Given the description of an element on the screen output the (x, y) to click on. 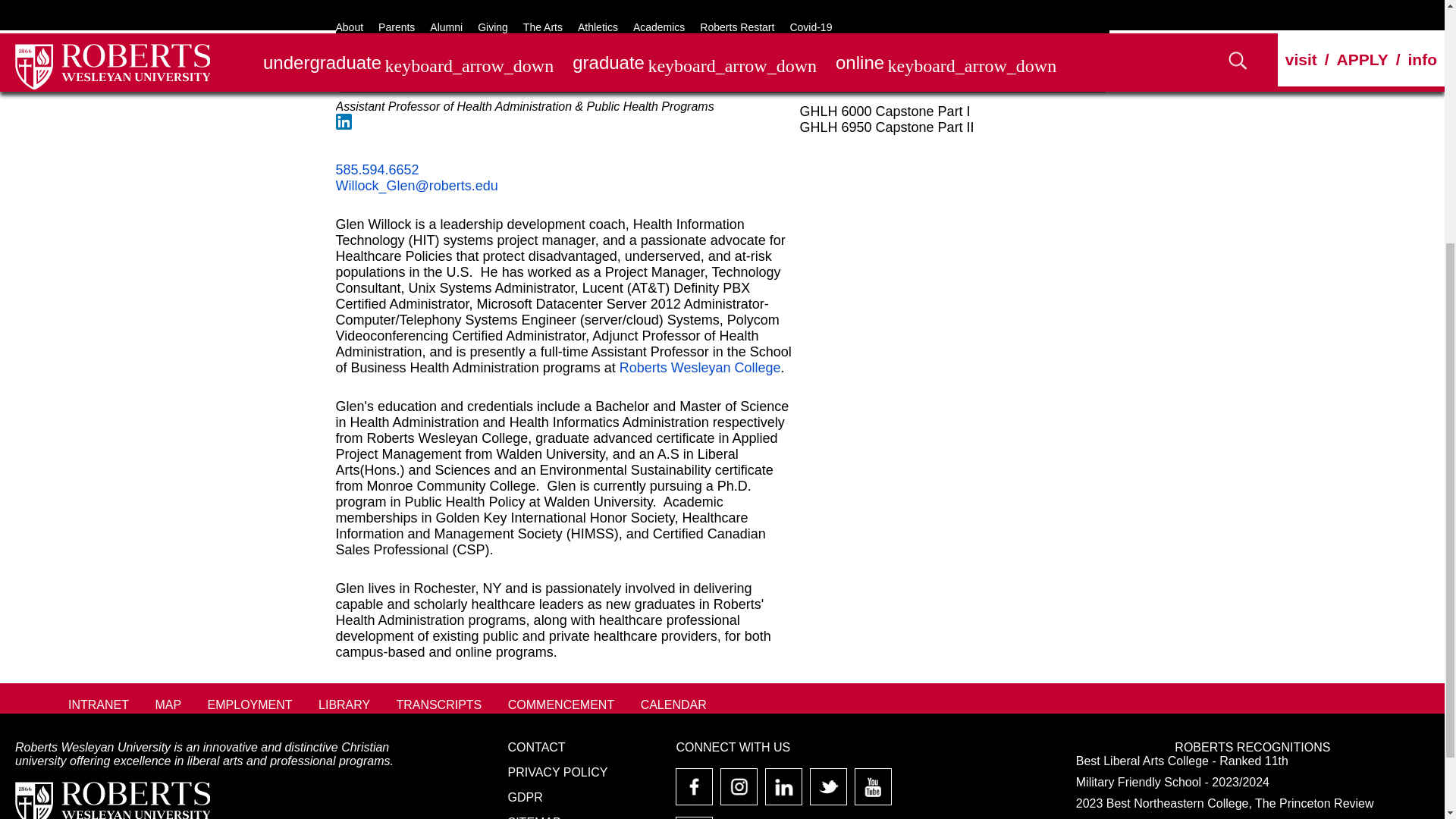
Follow me on LinkedIn (342, 121)
Follow us on Facebook (694, 792)
Follow us on YouTube (873, 792)
Follow us on Twitter (828, 792)
Follow us on Instagram (739, 792)
Follow us on LinkedIn (783, 792)
